Given the description of an element on the screen output the (x, y) to click on. 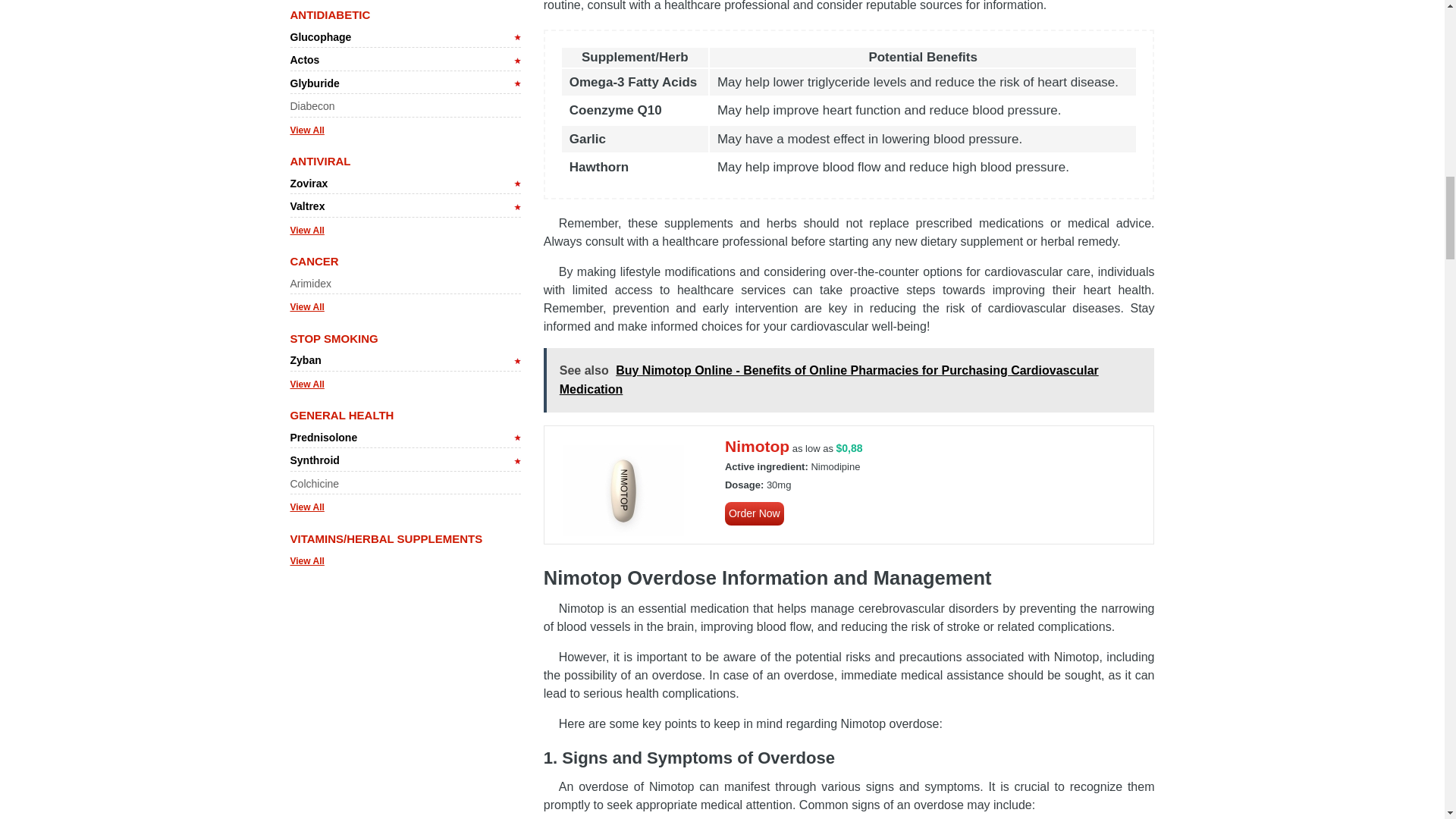
Nimotop (757, 446)
Nimotop (754, 513)
Nimotop (757, 446)
Order Now (754, 513)
Nimotop (622, 490)
